Given the description of an element on the screen output the (x, y) to click on. 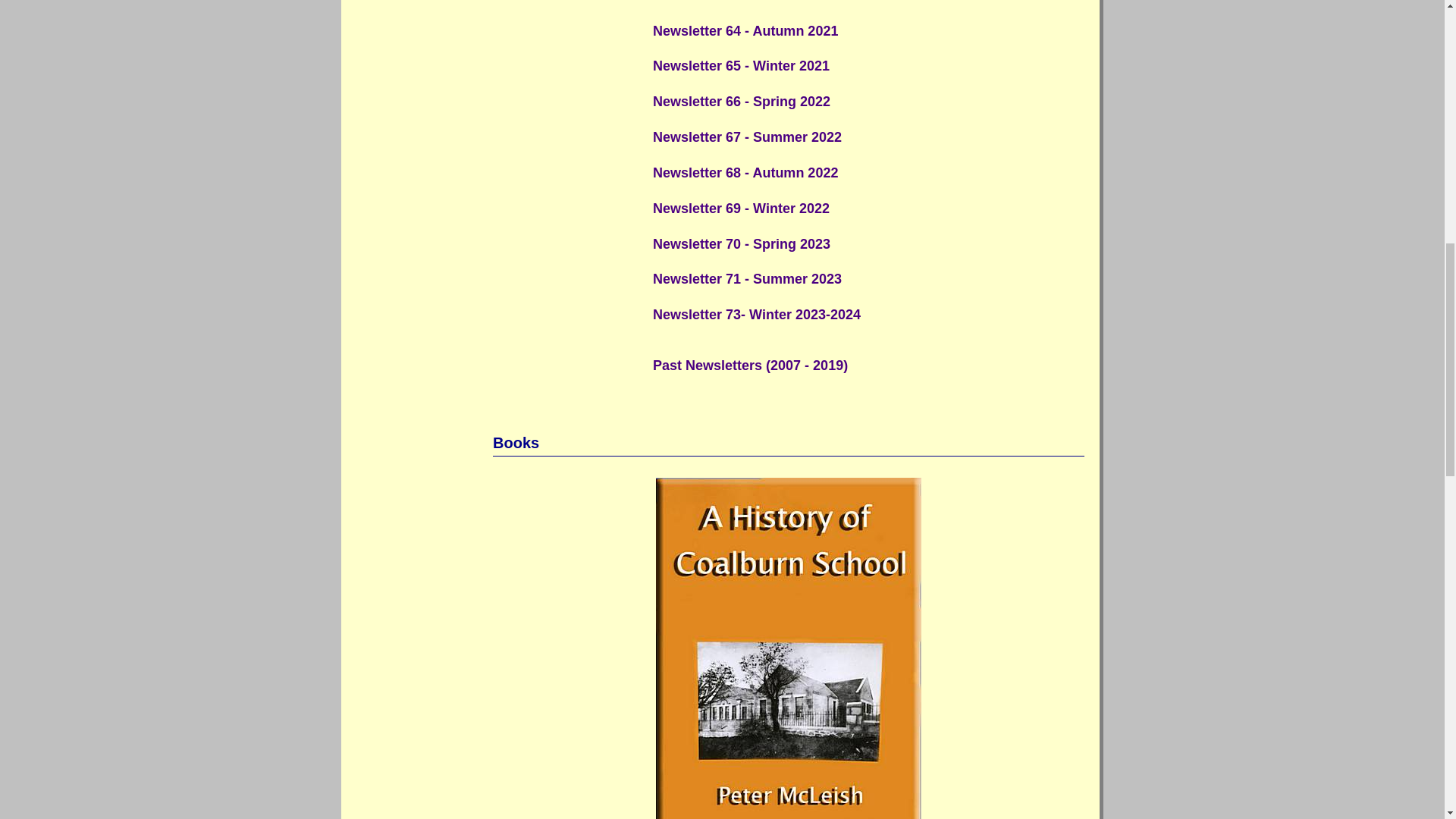
Newsletter 73- Winter 2023-2024 (825, 314)
Newsletter 63 - Summer 2021 (825, 5)
Newsletter 71 - Summer 2023 (825, 278)
Newsletter 66 - Spring 2022 (825, 101)
Newsletter 69 - Winter 2022 (825, 208)
Newsletter 65 - Winter 2021 (825, 65)
Newsletter 67 - Summer 2022 (825, 137)
Newsletter 70 - Spring 2023 (825, 244)
Newsletter 64 - Autumn 2021 (825, 30)
Newsletter 68 - Autumn 2022 (825, 173)
